Given the description of an element on the screen output the (x, y) to click on. 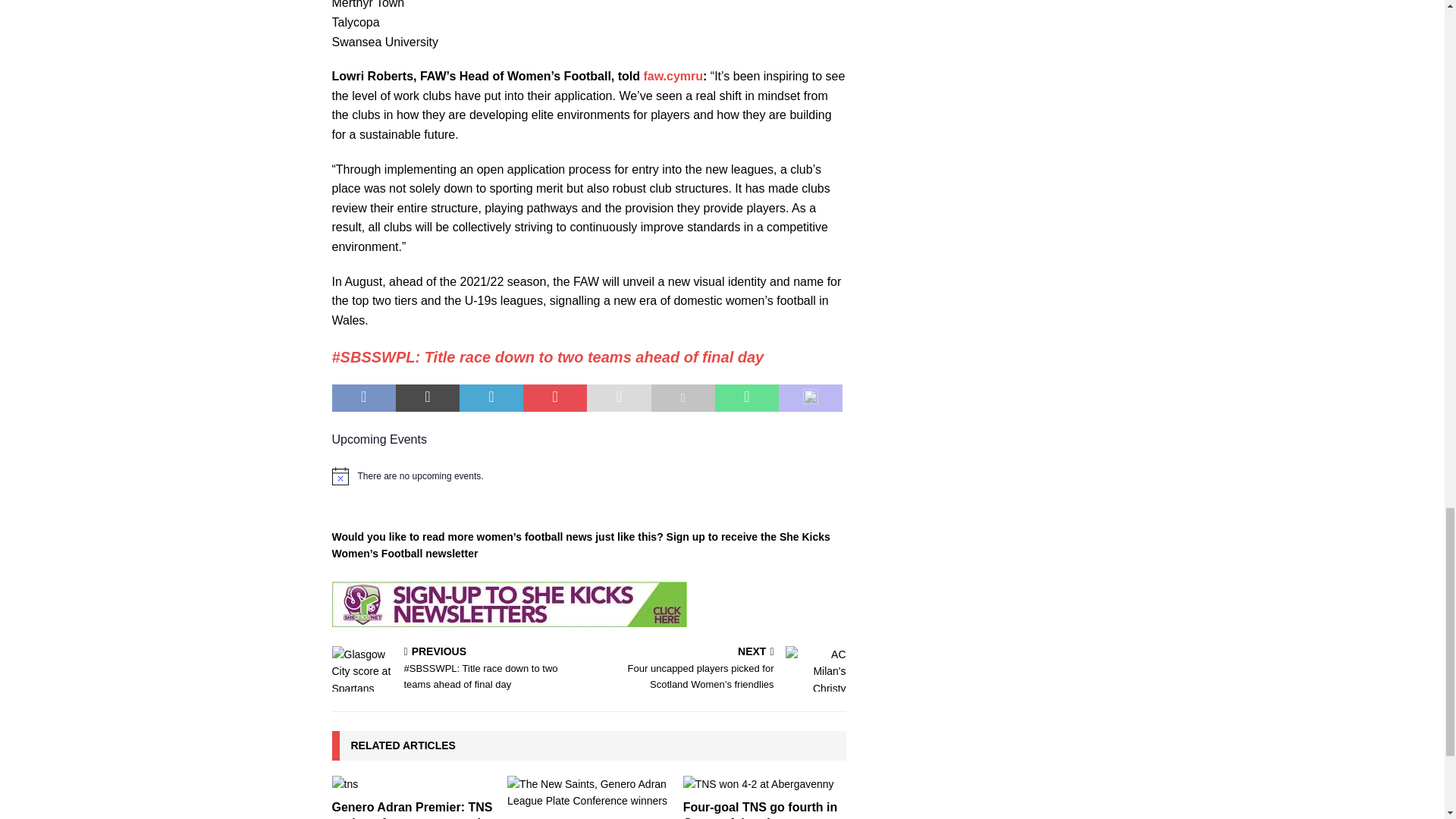
Share on LinkedIn (491, 397)
Tweet This Post (428, 397)
Pin This Post (554, 397)
Share on Facebook (363, 397)
Send this article to a friend (618, 397)
Share on Whatsapp (746, 397)
Print this article (682, 397)
